Given the description of an element on the screen output the (x, y) to click on. 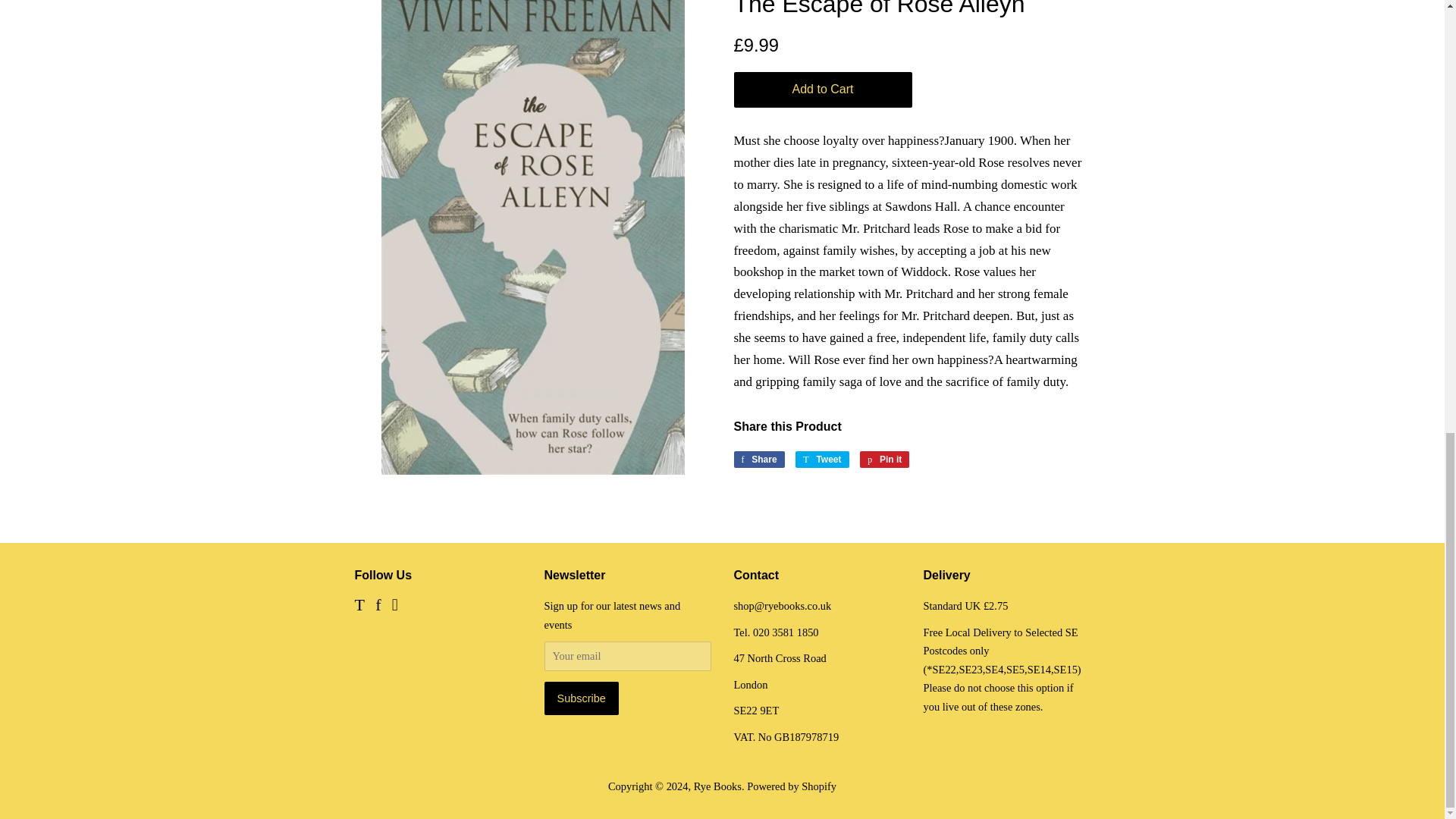
Pin on Pinterest (884, 459)
Subscribe (581, 697)
Tweet on Twitter (821, 459)
Share on Facebook (758, 459)
